Given the description of an element on the screen output the (x, y) to click on. 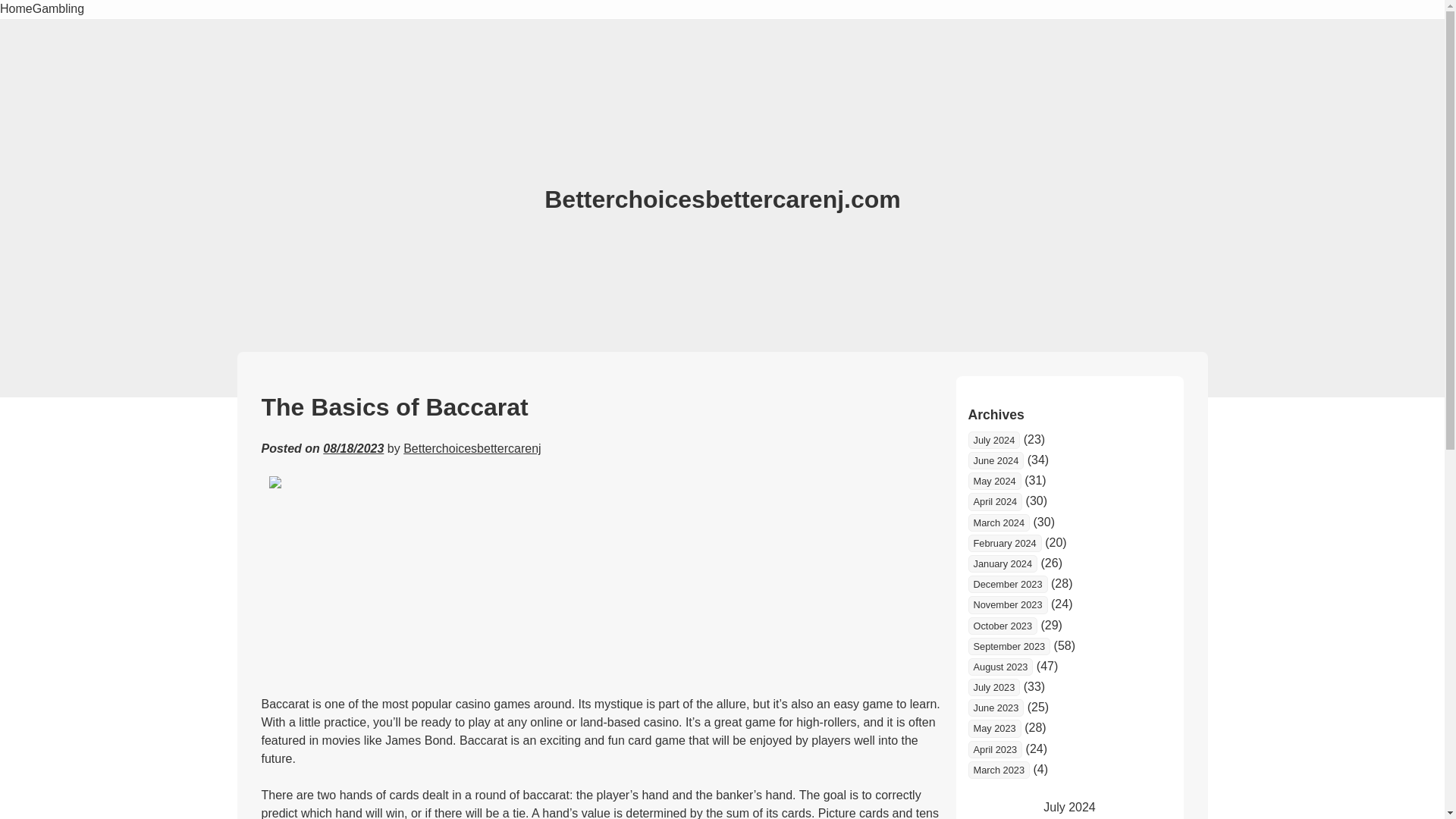
May 2024 (994, 480)
March 2023 (998, 769)
Gambling (58, 9)
October 2023 (1002, 625)
May 2023 (994, 728)
July 2023 (994, 687)
December 2023 (1007, 583)
Home (16, 9)
February 2024 (1004, 543)
June 2023 (995, 707)
November 2023 (1007, 604)
April 2023 (995, 749)
January 2024 (1002, 563)
